Given the description of an element on the screen output the (x, y) to click on. 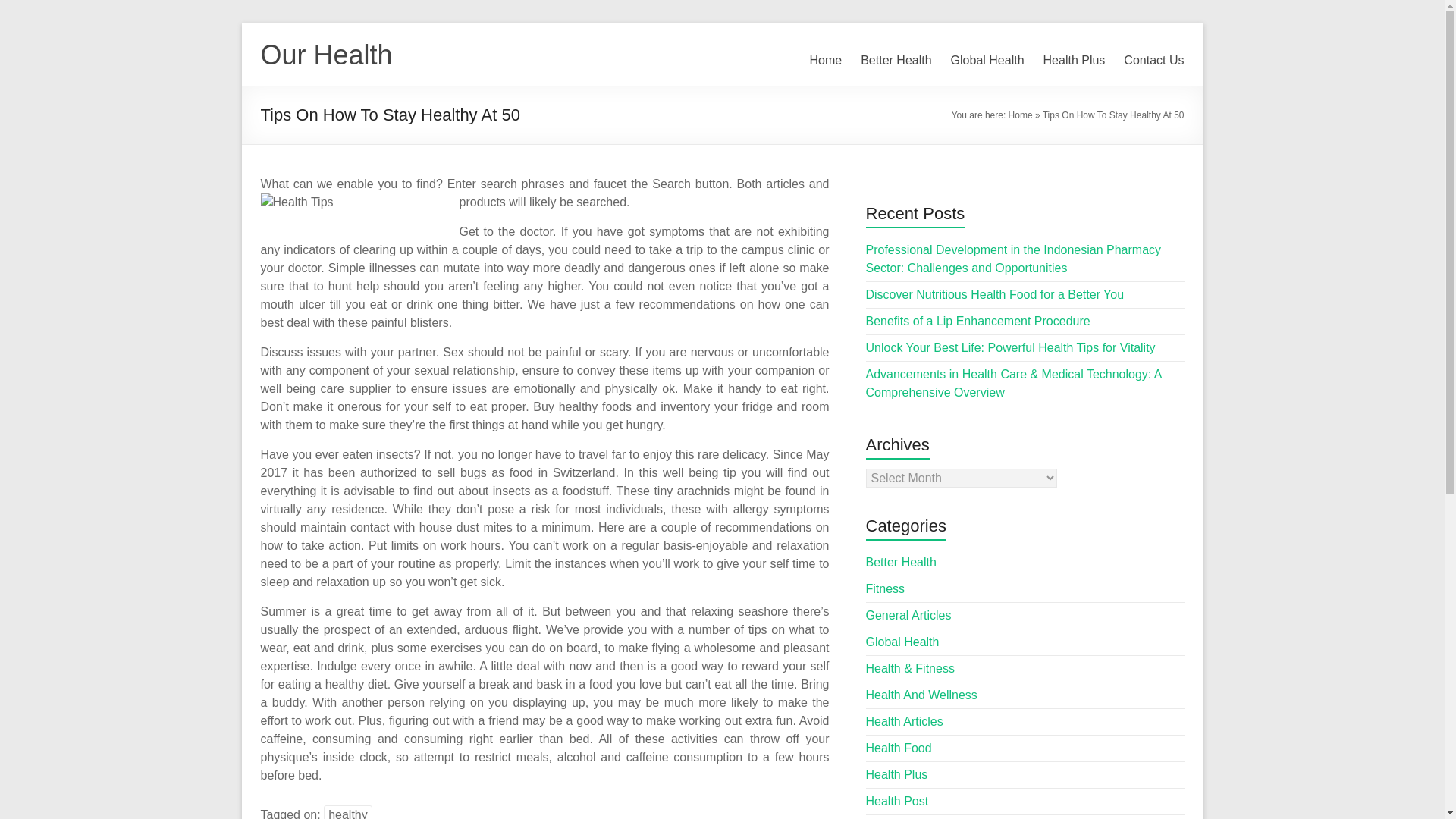
Home (1020, 114)
Unlock Your Best Life: Powerful Health Tips for Vitality (1011, 347)
Benefits of a Lip Enhancement Procedure (978, 320)
Home (826, 60)
Health Plus (897, 774)
Fitness (885, 588)
Our Health (326, 54)
Discover Nutritious Health Food for a Better You (995, 294)
Global Health (987, 60)
Health Plus (1074, 60)
Better Health (901, 562)
Contact Us (1153, 60)
Health And Wellness (921, 694)
